Given the description of an element on the screen output the (x, y) to click on. 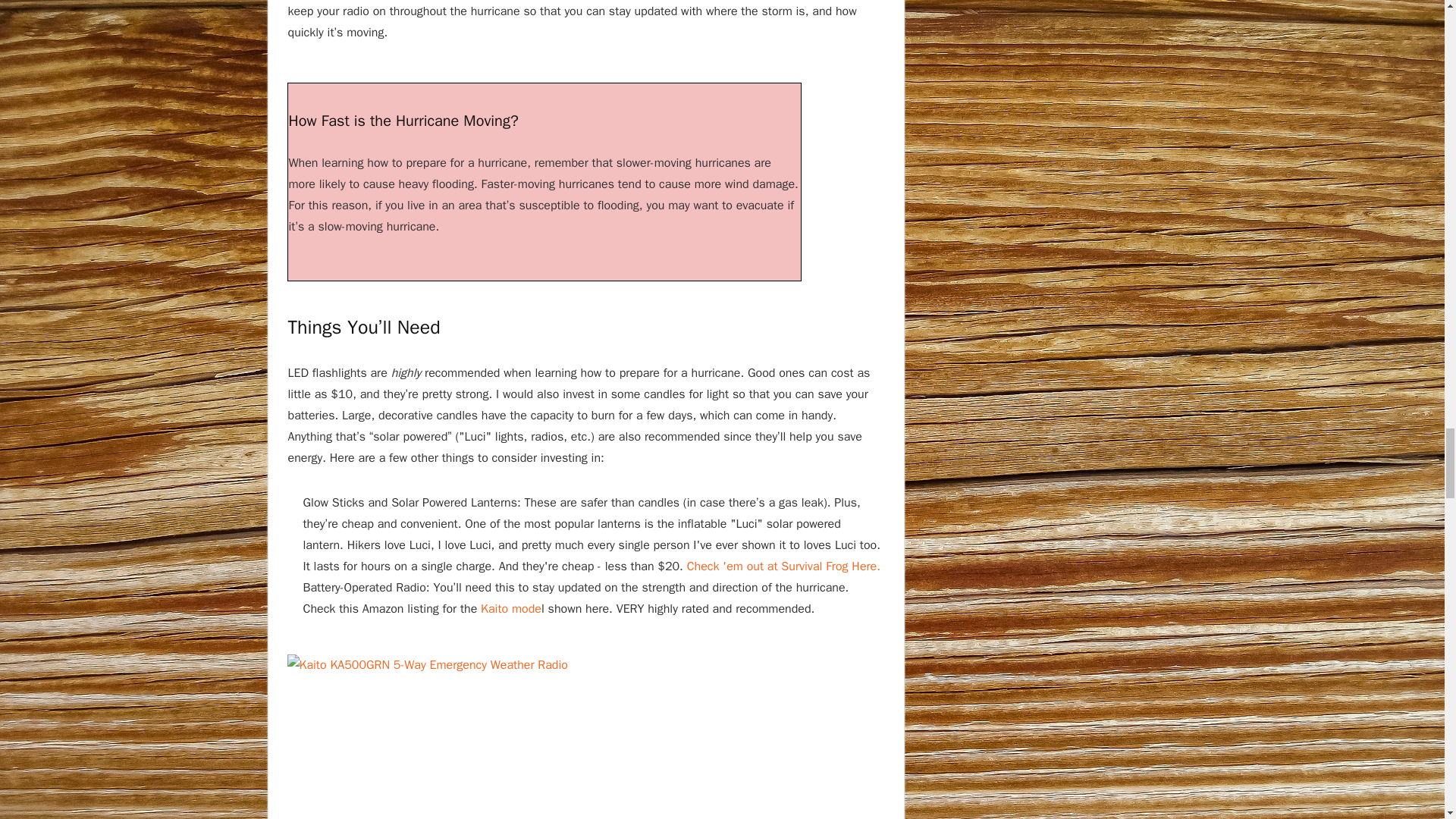
Check 'em out at Survival Frog Here. (783, 566)
Kaito KA500GRN 5-Way Powered Emergency Weather Radio (531, 736)
Kaito mode (510, 608)
